Given the description of an element on the screen output the (x, y) to click on. 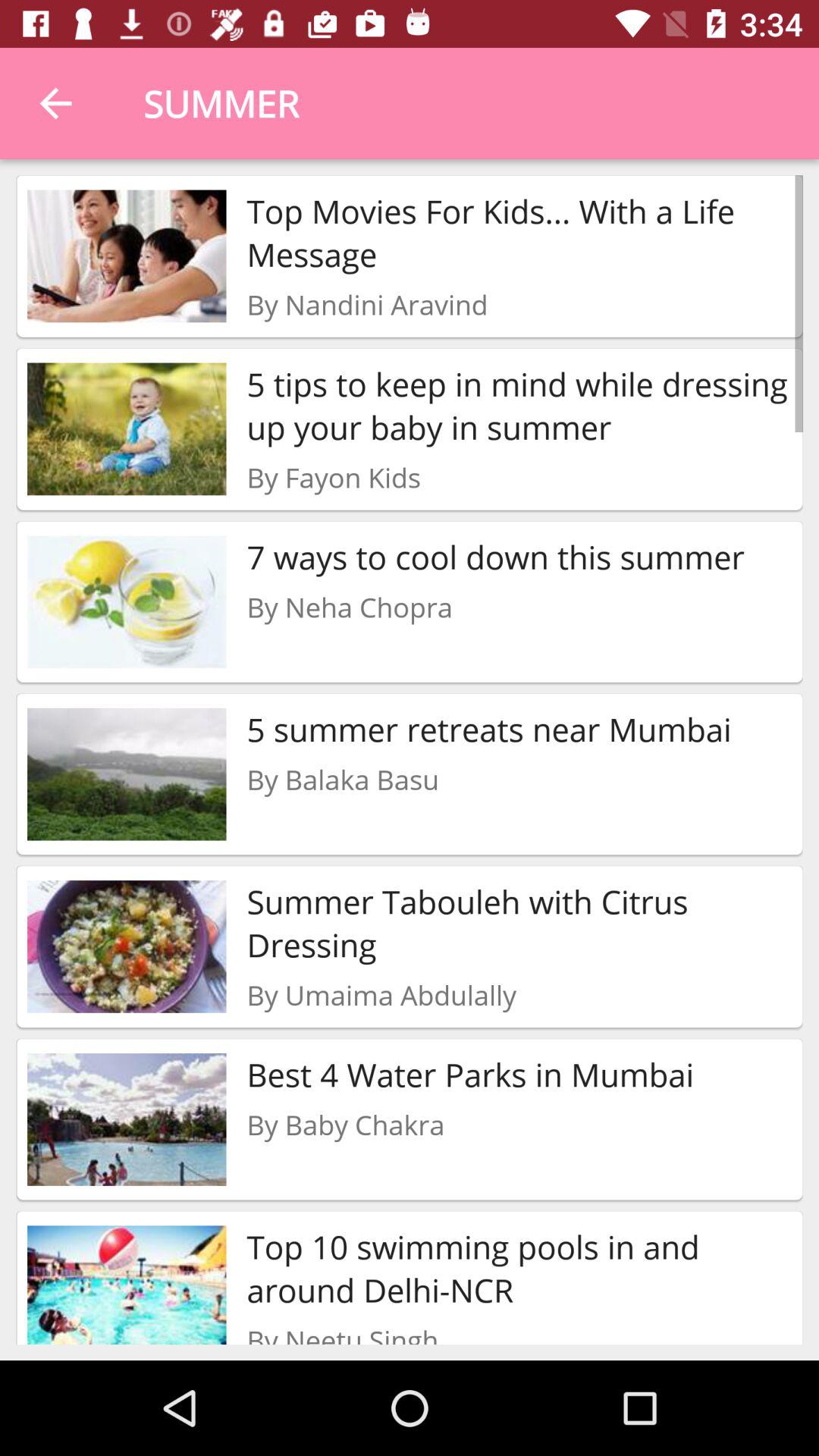
flip to by baby chakra (345, 1124)
